Given the description of an element on the screen output the (x, y) to click on. 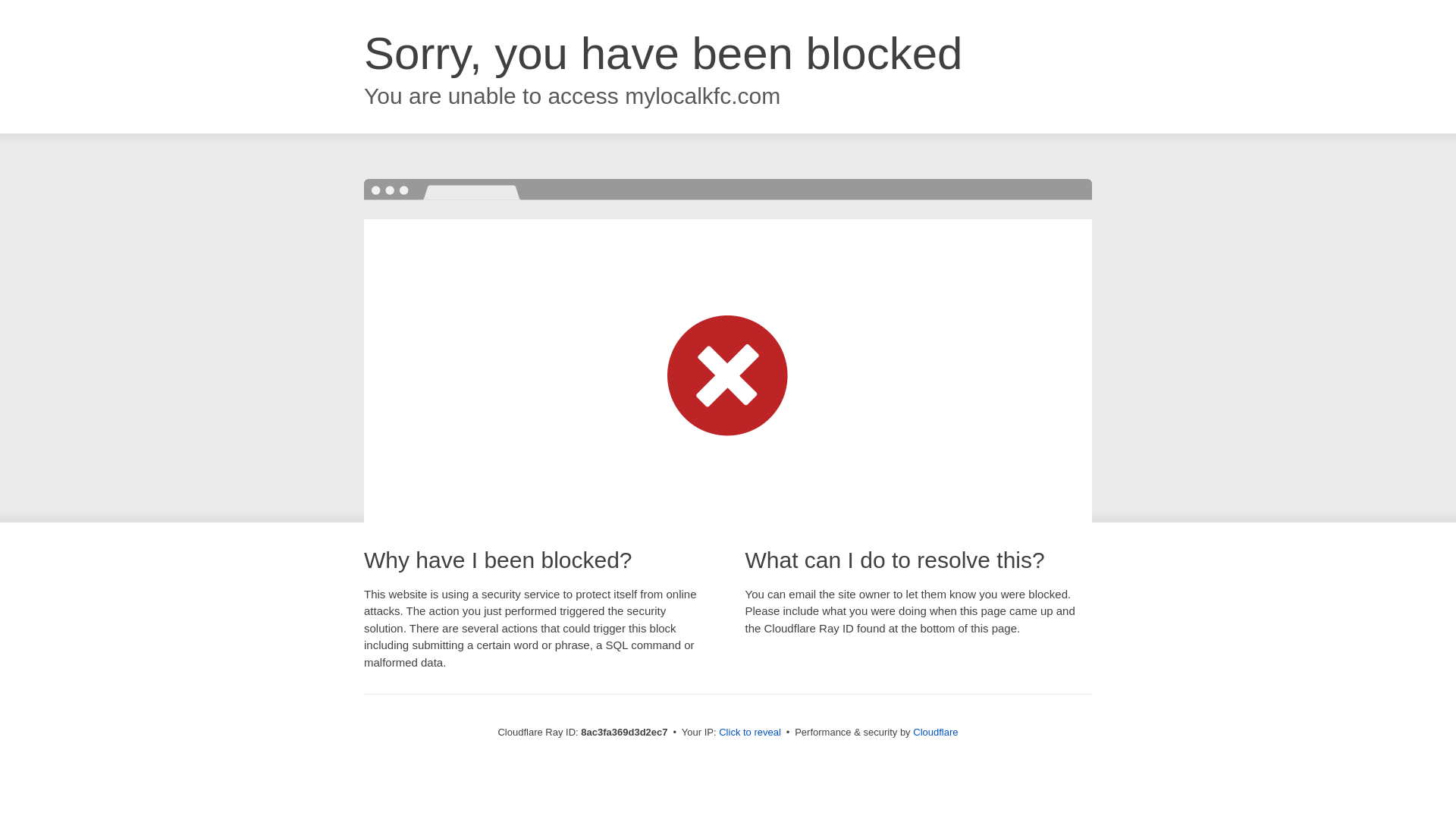
Click to reveal (749, 732)
Cloudflare (935, 731)
